Given the description of an element on the screen output the (x, y) to click on. 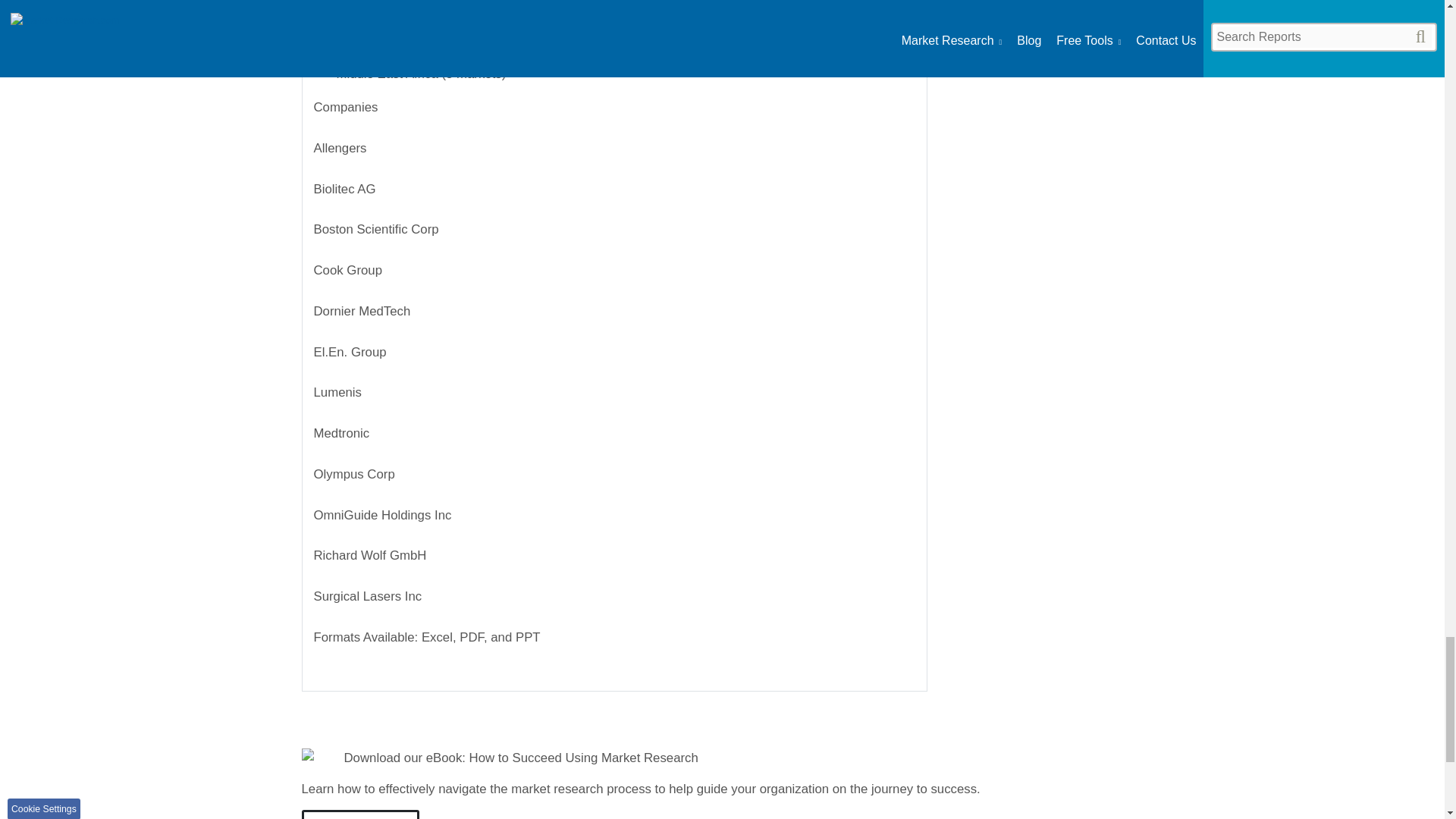
Download eBook (360, 814)
